Given the description of an element on the screen output the (x, y) to click on. 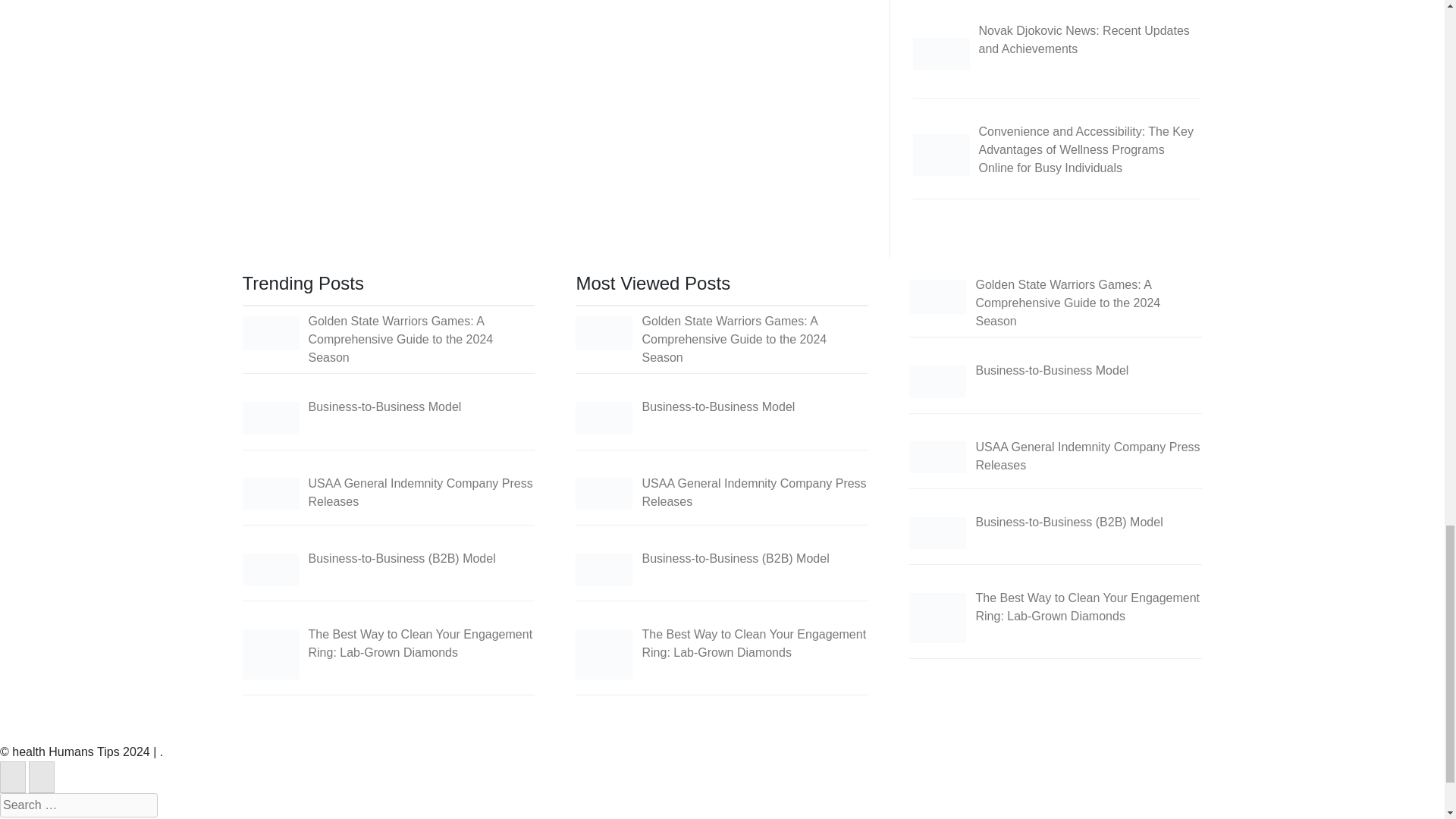
Novak Djokovic News: Recent Updates and Achievements (940, 53)
